Given the description of an element on the screen output the (x, y) to click on. 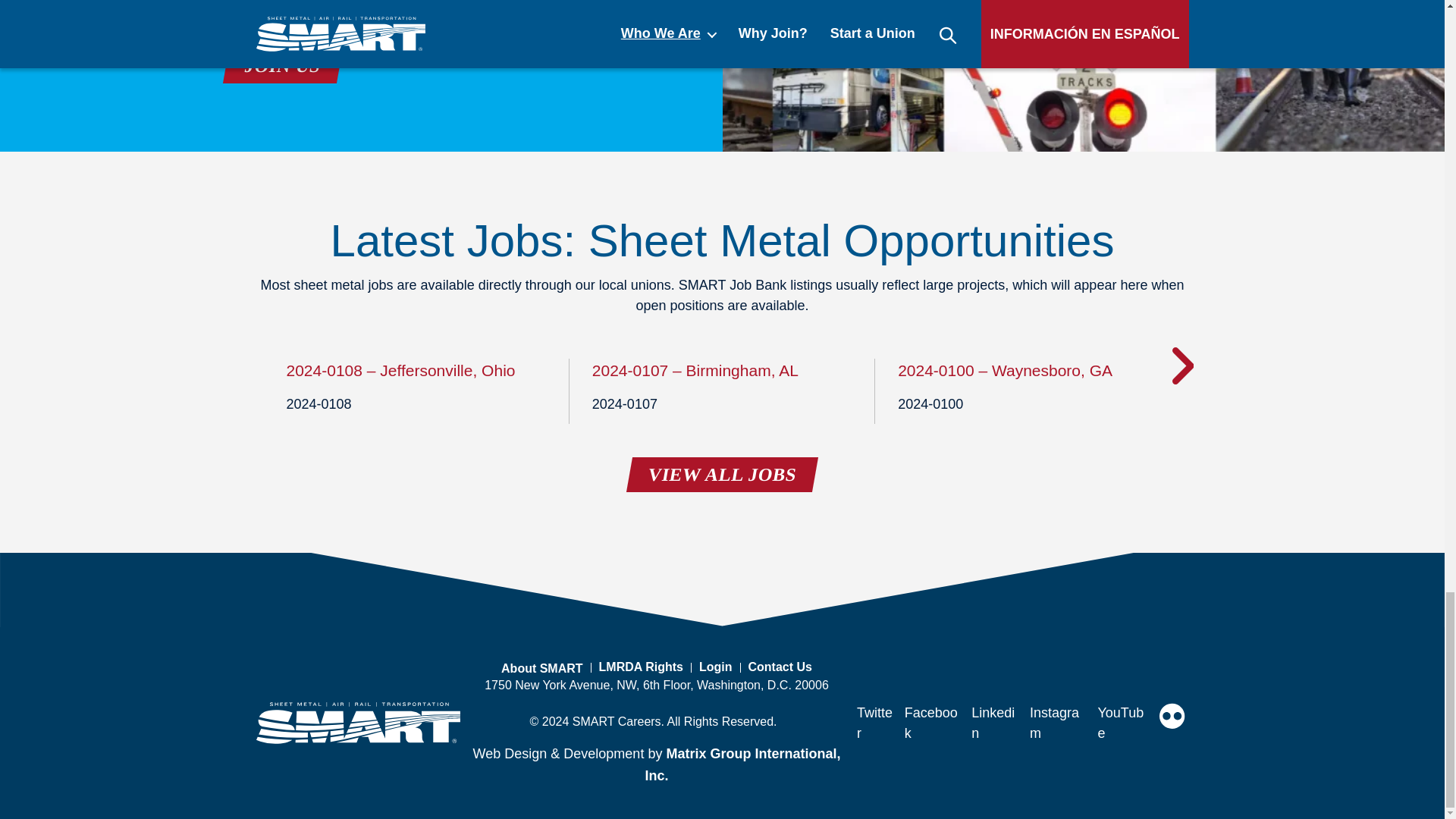
VIEW ALL JOBS (719, 474)
JOIN US (279, 65)
